Given the description of an element on the screen output the (x, y) to click on. 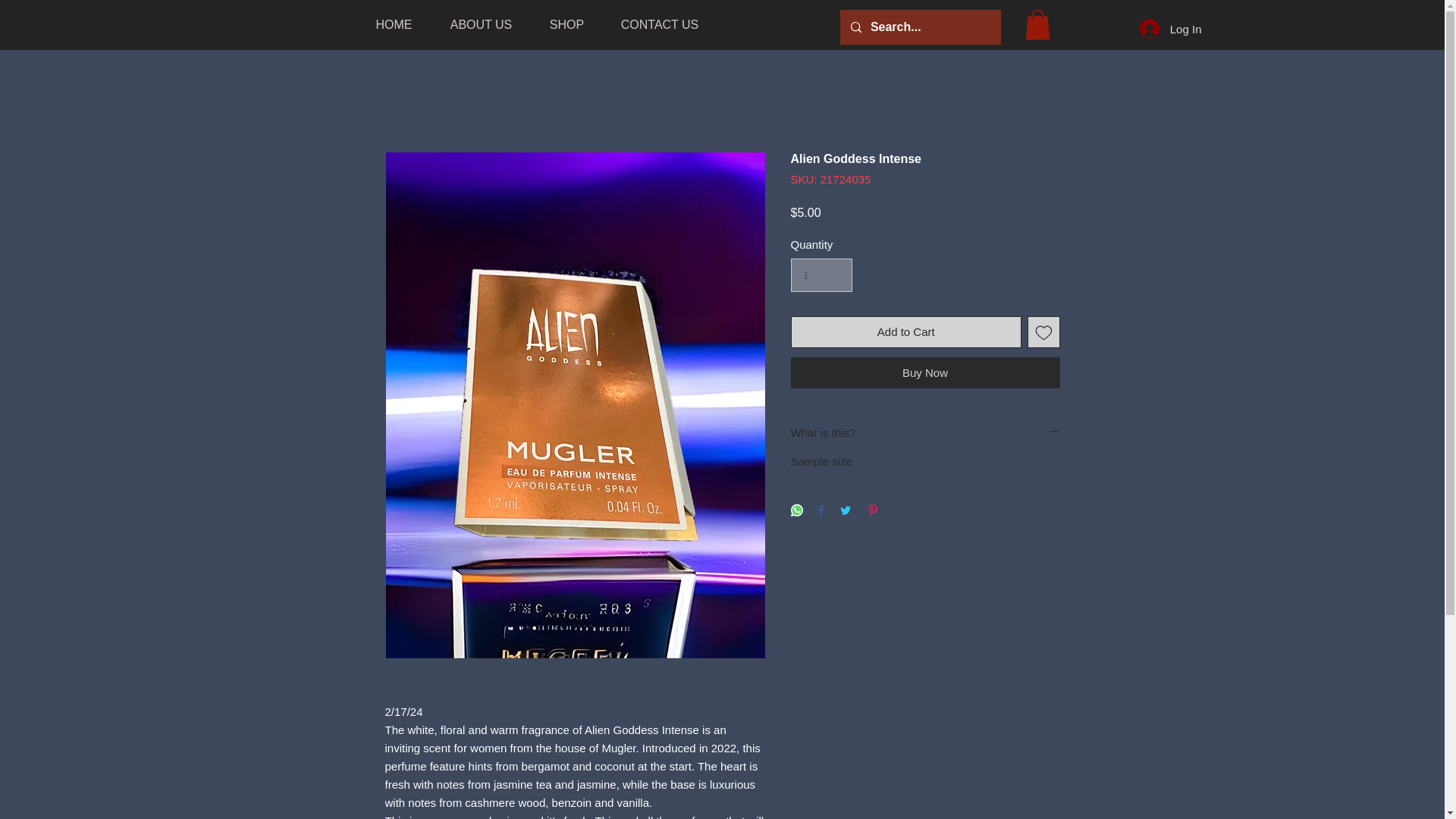
HOME (393, 24)
Add to Cart (906, 332)
1 (820, 274)
Buy Now (924, 372)
Log In (1170, 28)
CONTACT US (659, 24)
ABOUT US (480, 24)
SHOP (566, 24)
What is this? (924, 432)
